Given the description of an element on the screen output the (x, y) to click on. 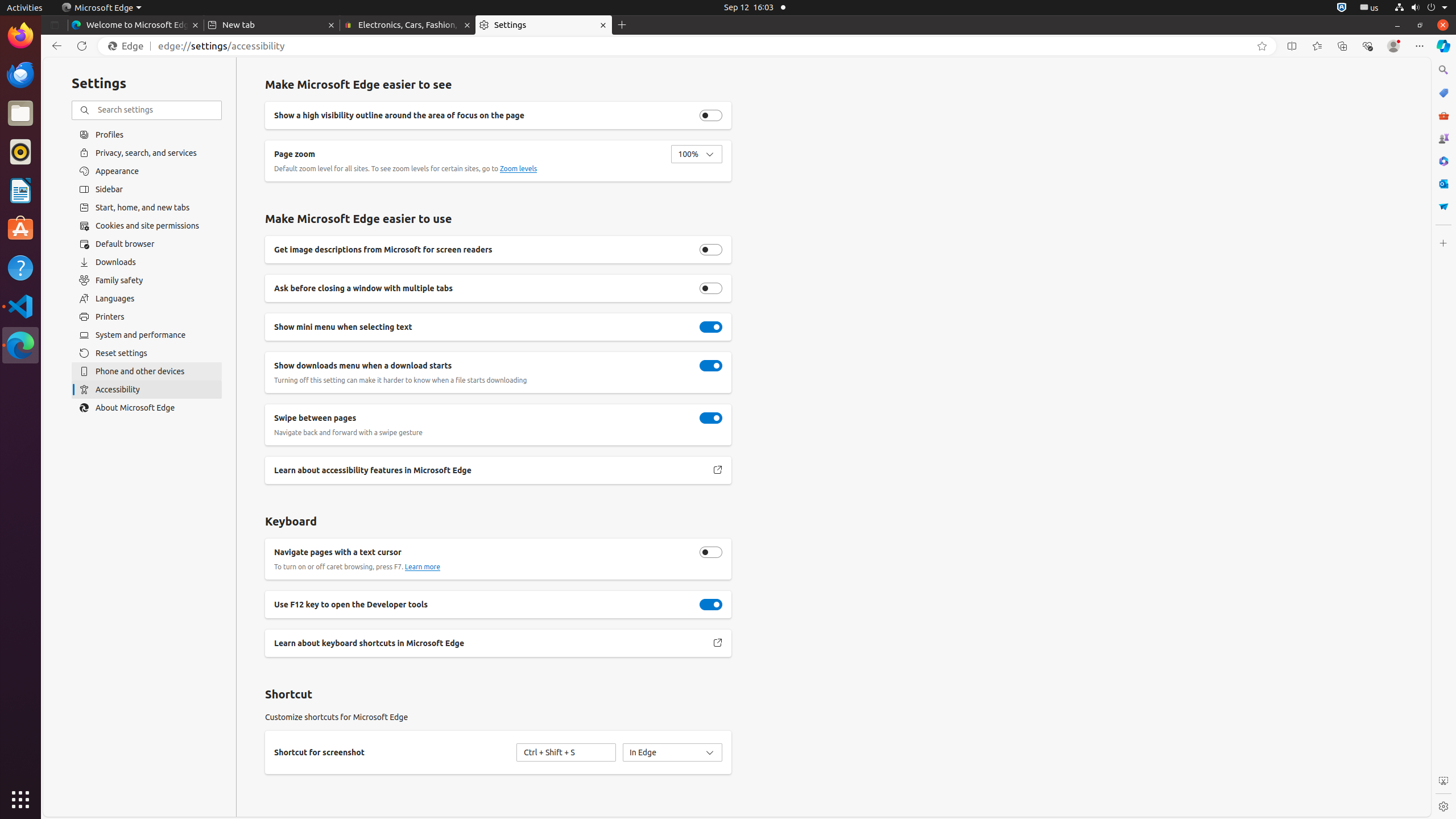
Favorites Element type: push-button (1316, 45)
Ask before closing a window with multiple tabs Element type: check-box (710, 288)
Browser essentials Element type: push-button (1366, 45)
Games Element type: push-button (1443, 137)
Help Element type: push-button (20, 267)
